Given the description of an element on the screen output the (x, y) to click on. 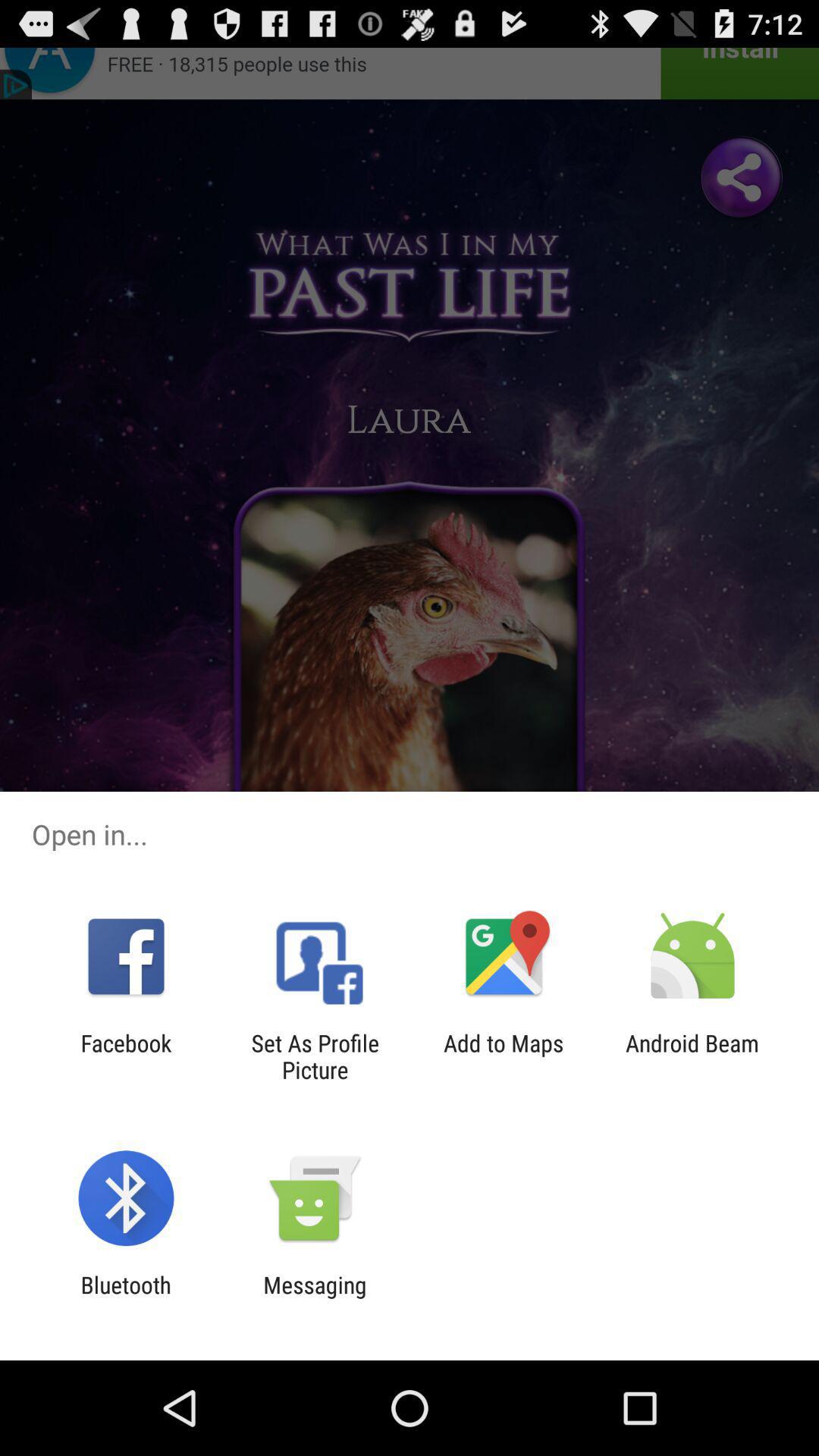
tap item to the left of set as profile (125, 1056)
